Given the description of an element on the screen output the (x, y) to click on. 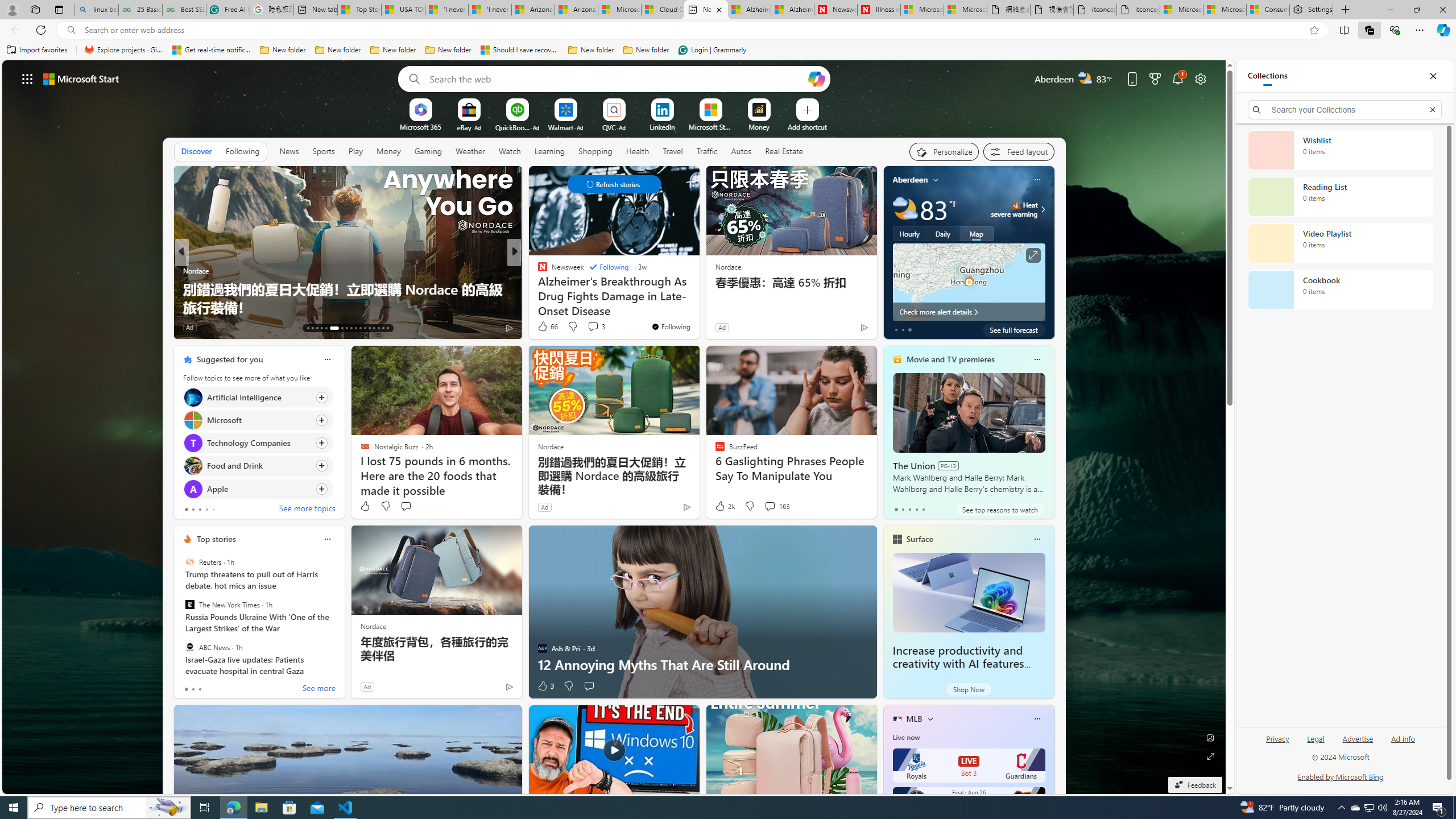
Reuters (189, 561)
Daily (942, 233)
Cookbook collection, 0 items (1339, 289)
66 Like (546, 326)
View comments 16 Comment (597, 327)
Traffic (706, 151)
AutomationID: tab-15 (317, 328)
